Given the description of an element on the screen output the (x, y) to click on. 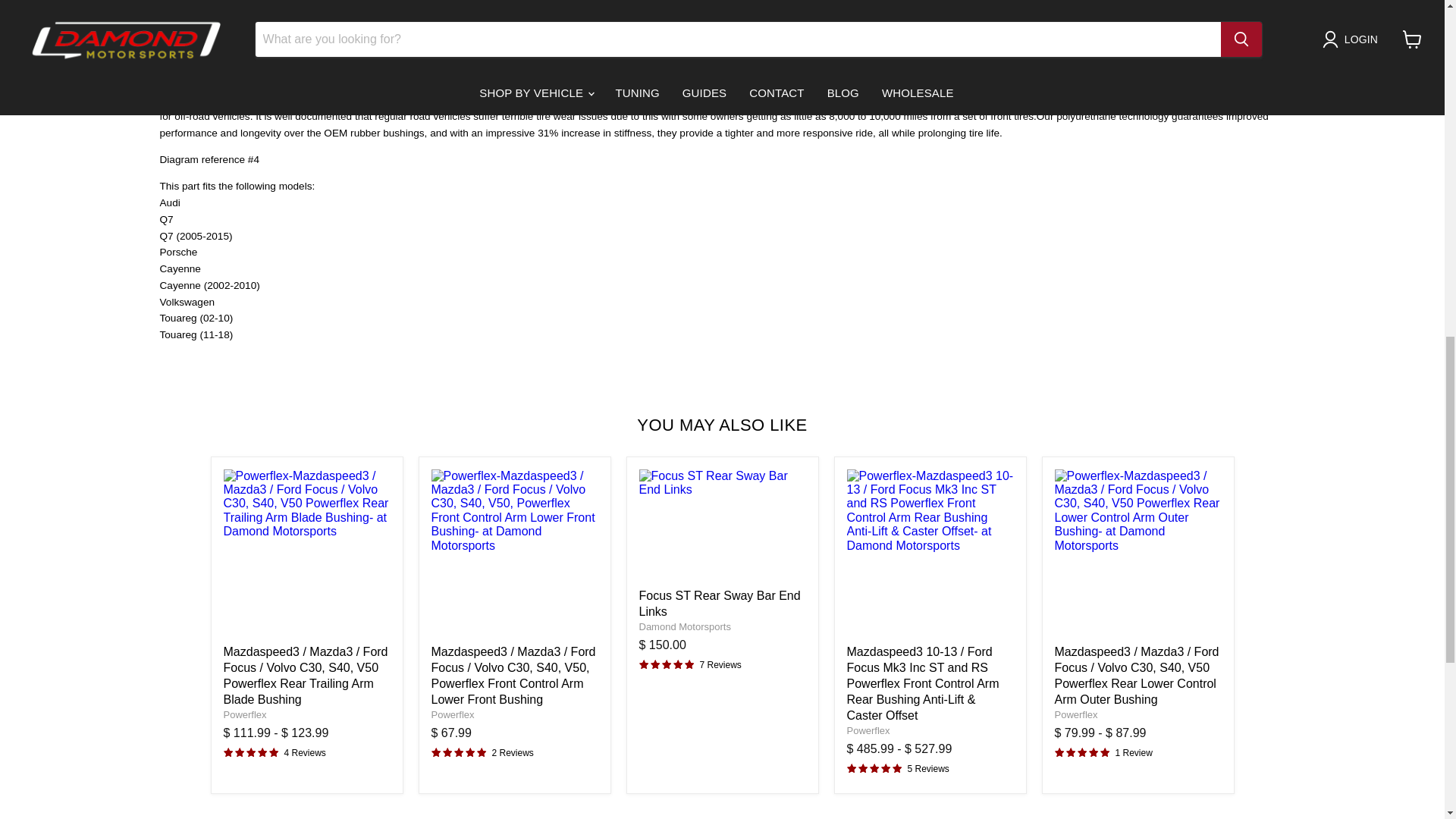
Powerflex (244, 714)
Powerflex (867, 730)
Damond Motorsports (684, 626)
Powerflex (452, 714)
Powerflex (1075, 714)
